Given the description of an element on the screen output the (x, y) to click on. 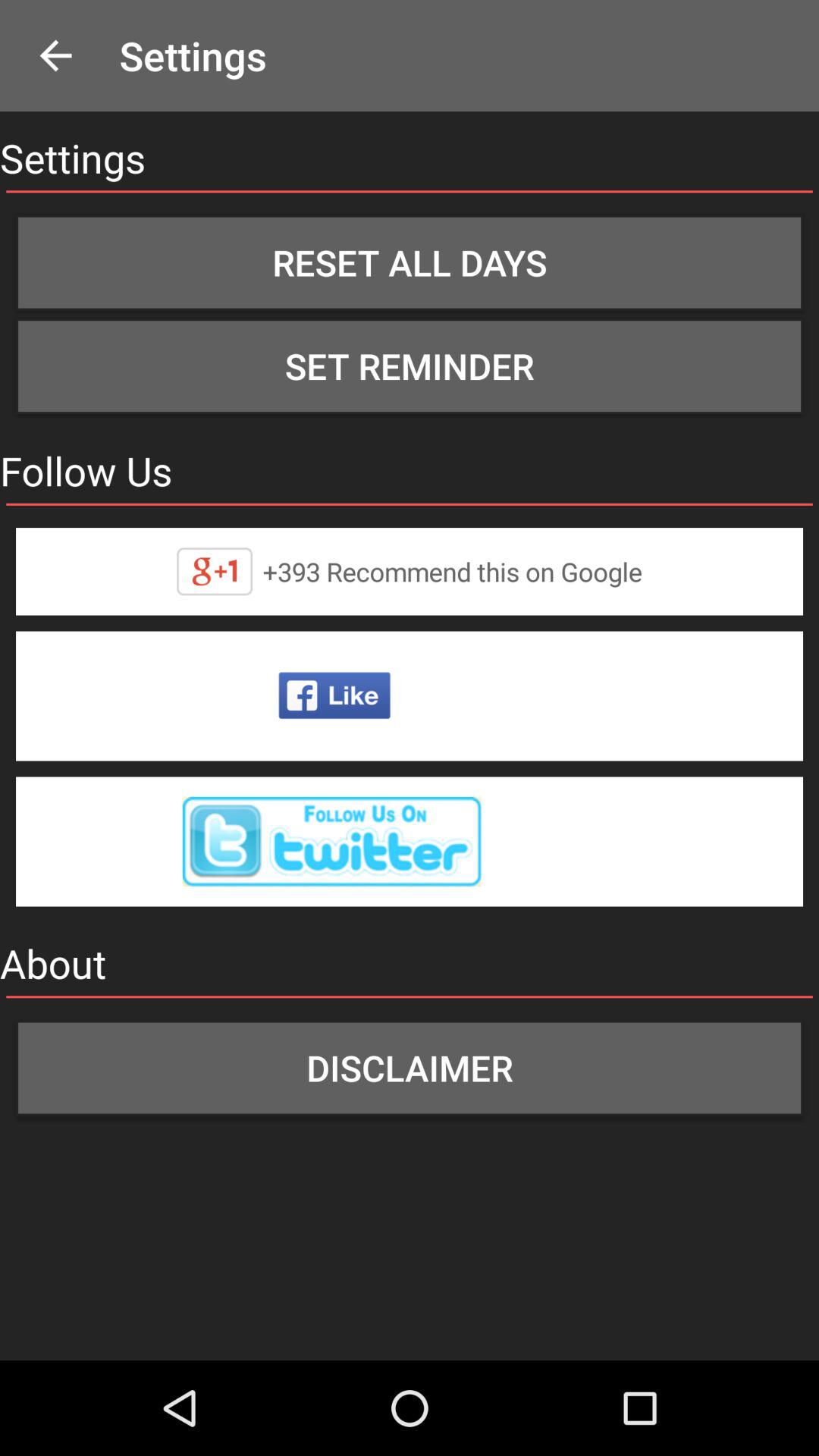
tap icon above follow us (409, 366)
